Given the description of an element on the screen output the (x, y) to click on. 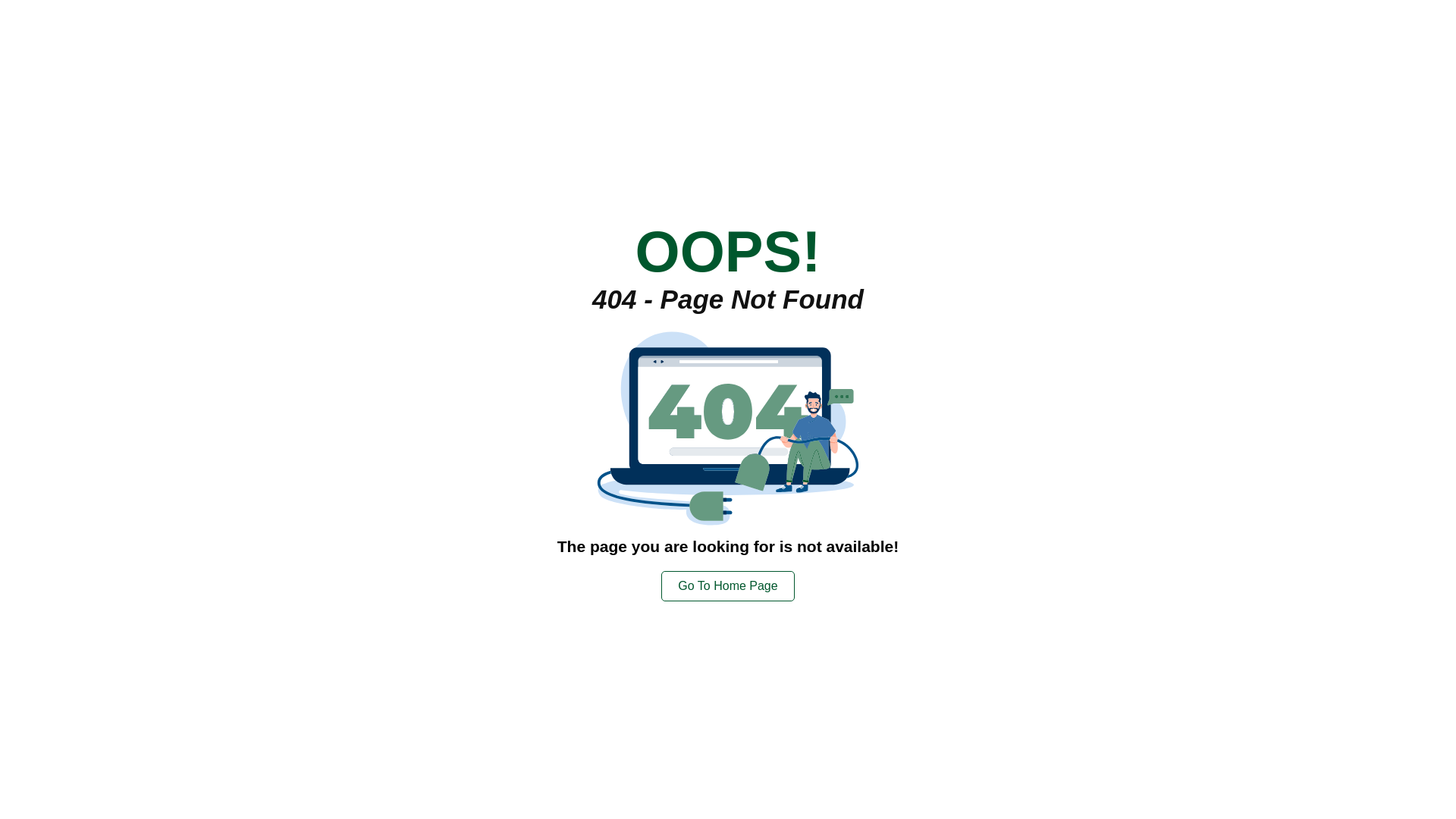
Go To Home Page Element type: text (727, 585)
